Given the description of an element on the screen output the (x, y) to click on. 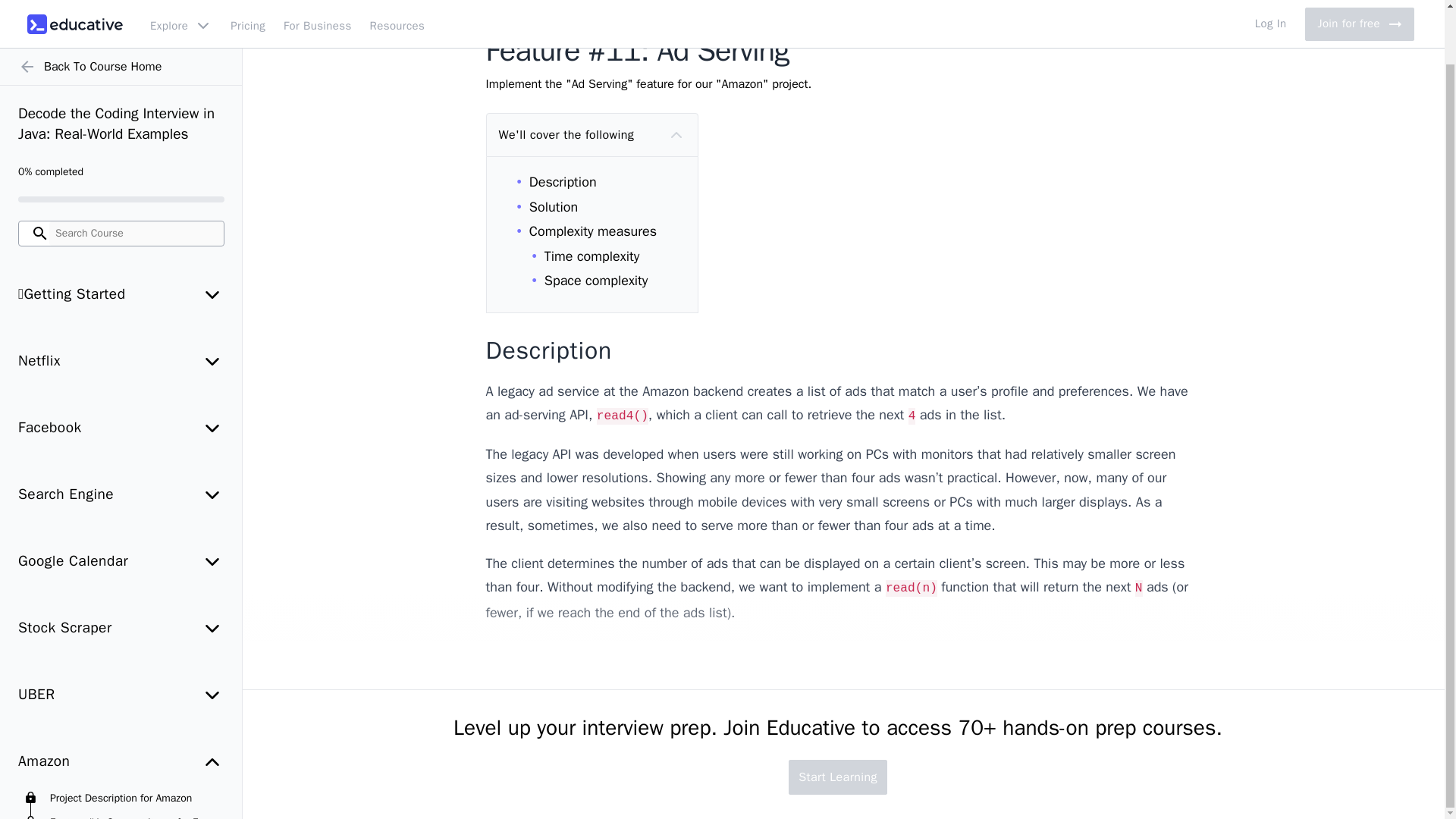
Decode the Coding Interview in Java: Real-World Examples (121, 65)
Back To Course Home (121, 13)
